Given the description of an element on the screen output the (x, y) to click on. 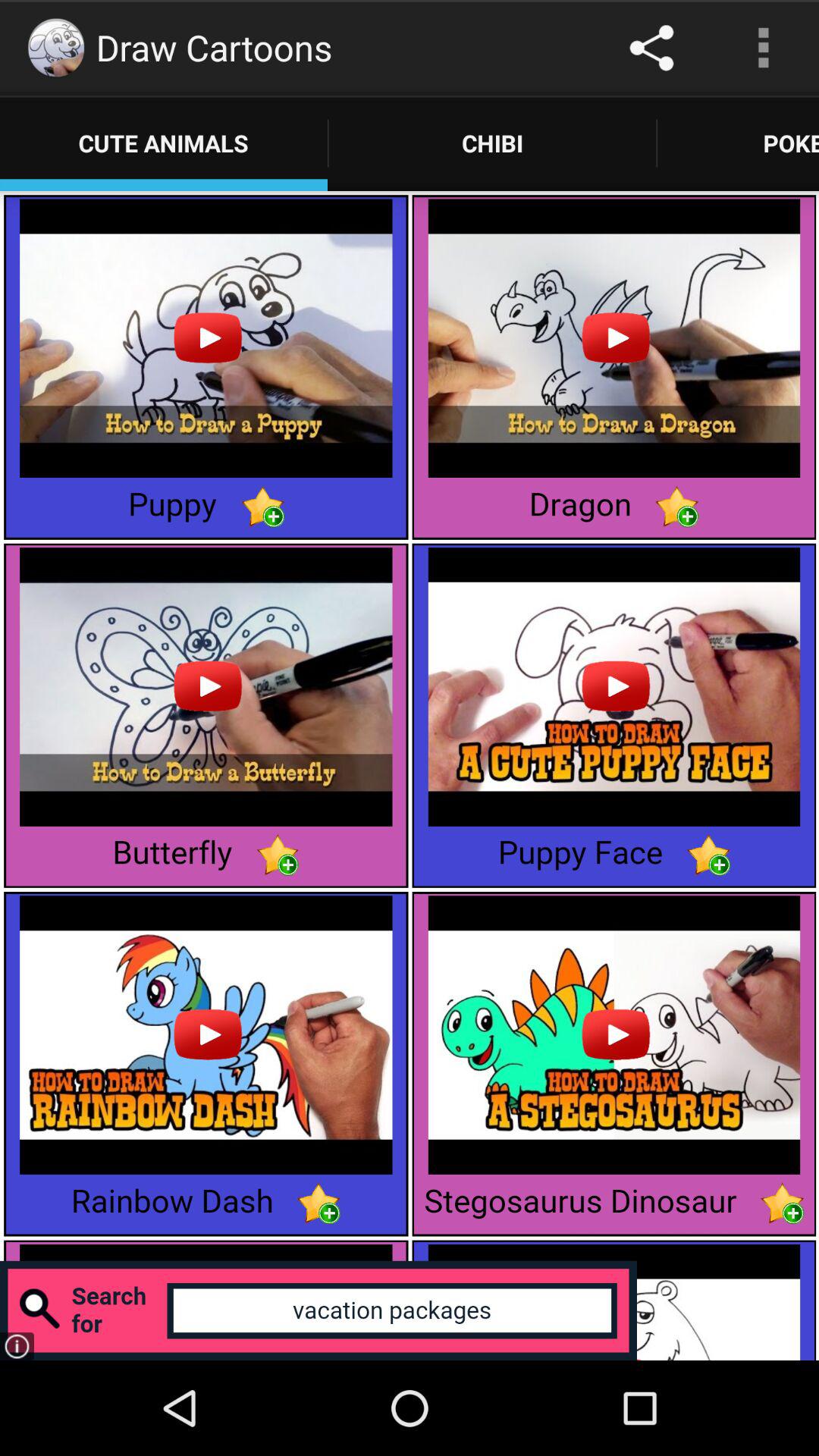
search bar (318, 1310)
